Given the description of an element on the screen output the (x, y) to click on. 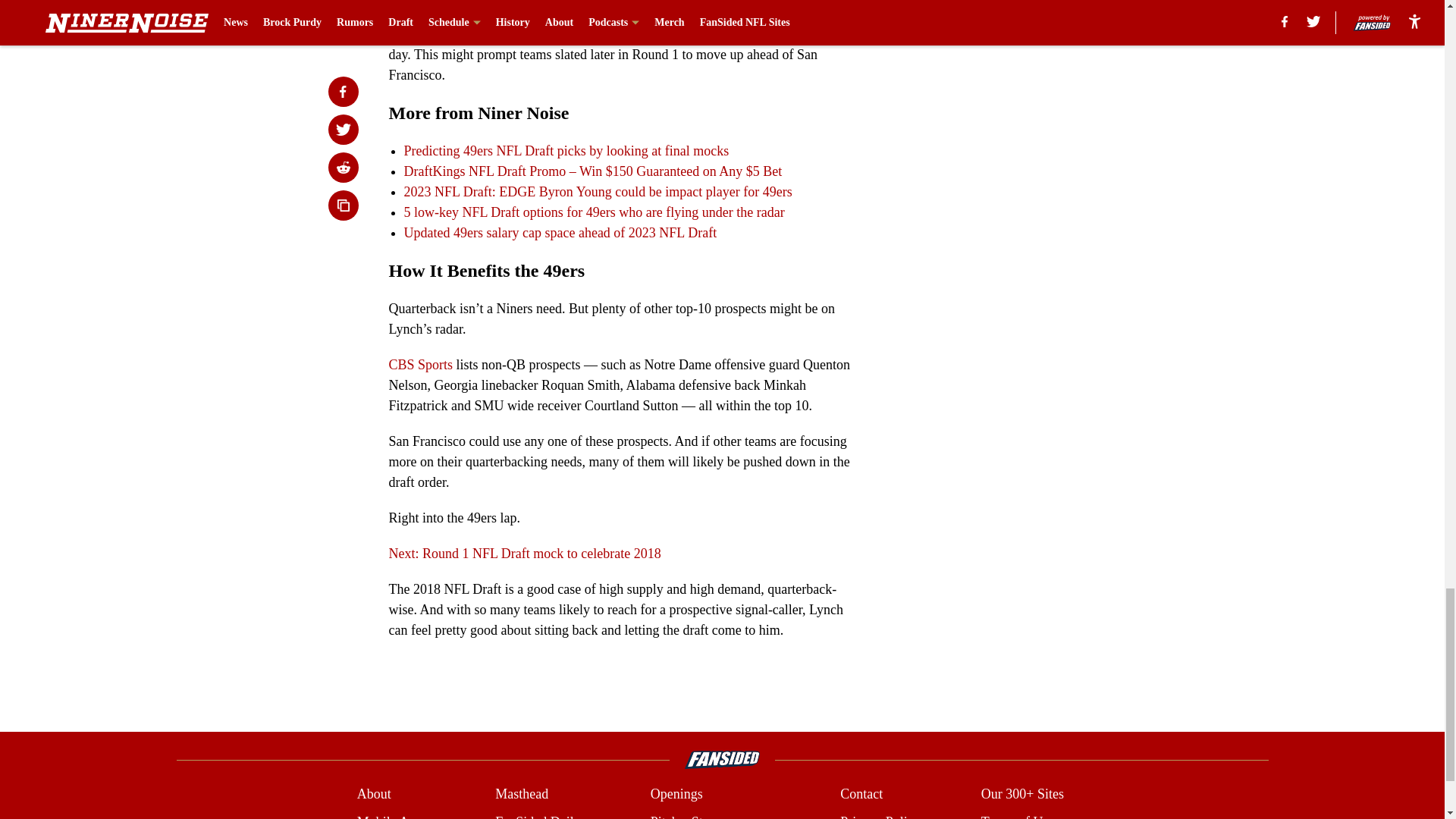
About (373, 793)
CBS Sports (420, 364)
Mobile Apps (392, 815)
Updated 49ers salary cap space ahead of 2023 NFL Draft (559, 232)
Predicting 49ers NFL Draft picks by looking at final mocks (566, 150)
Masthead (521, 793)
Contact (861, 793)
Openings (676, 793)
